Given the description of an element on the screen output the (x, y) to click on. 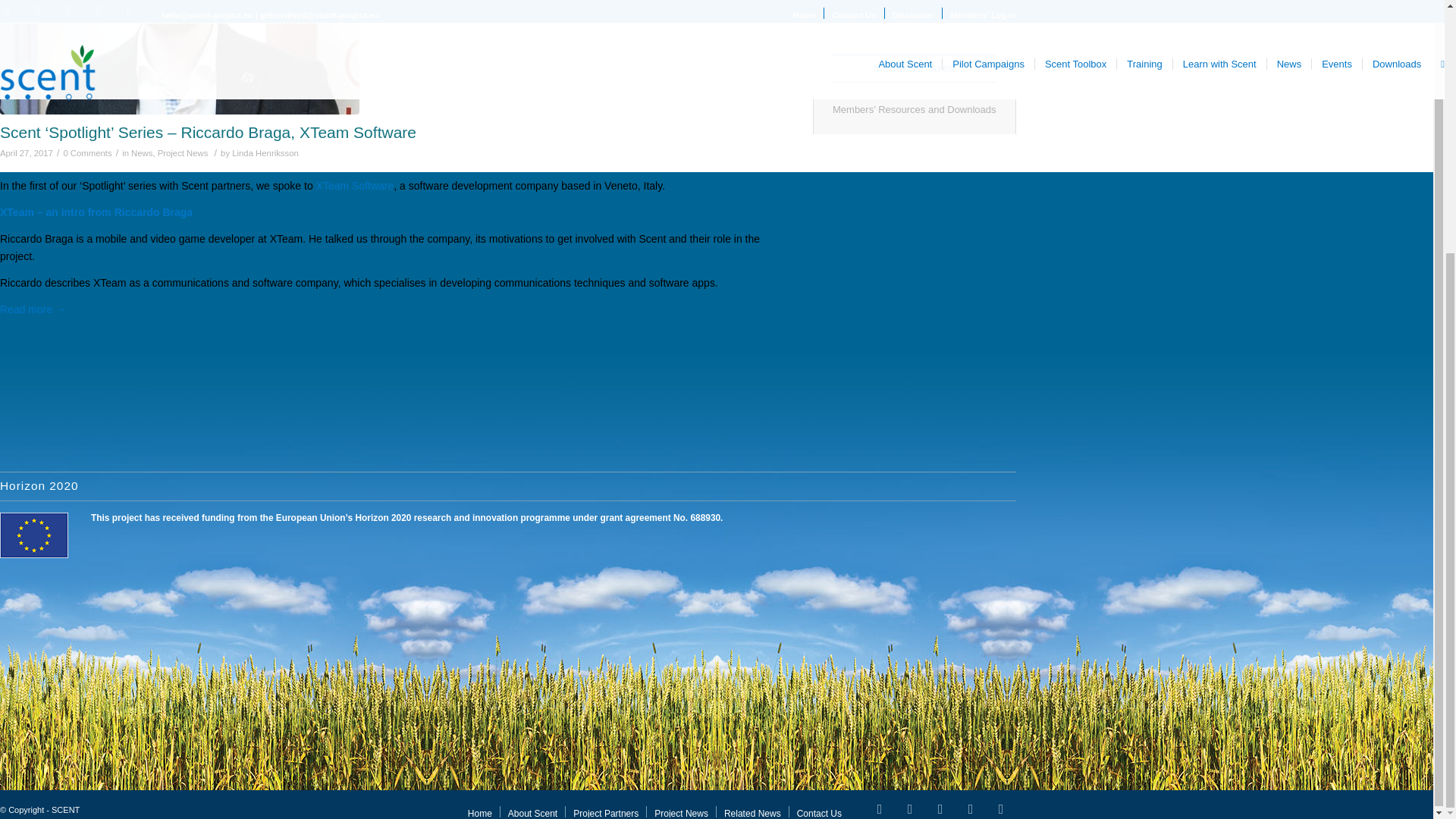
Posts by Linda Henriksson (264, 153)
